Given the description of an element on the screen output the (x, y) to click on. 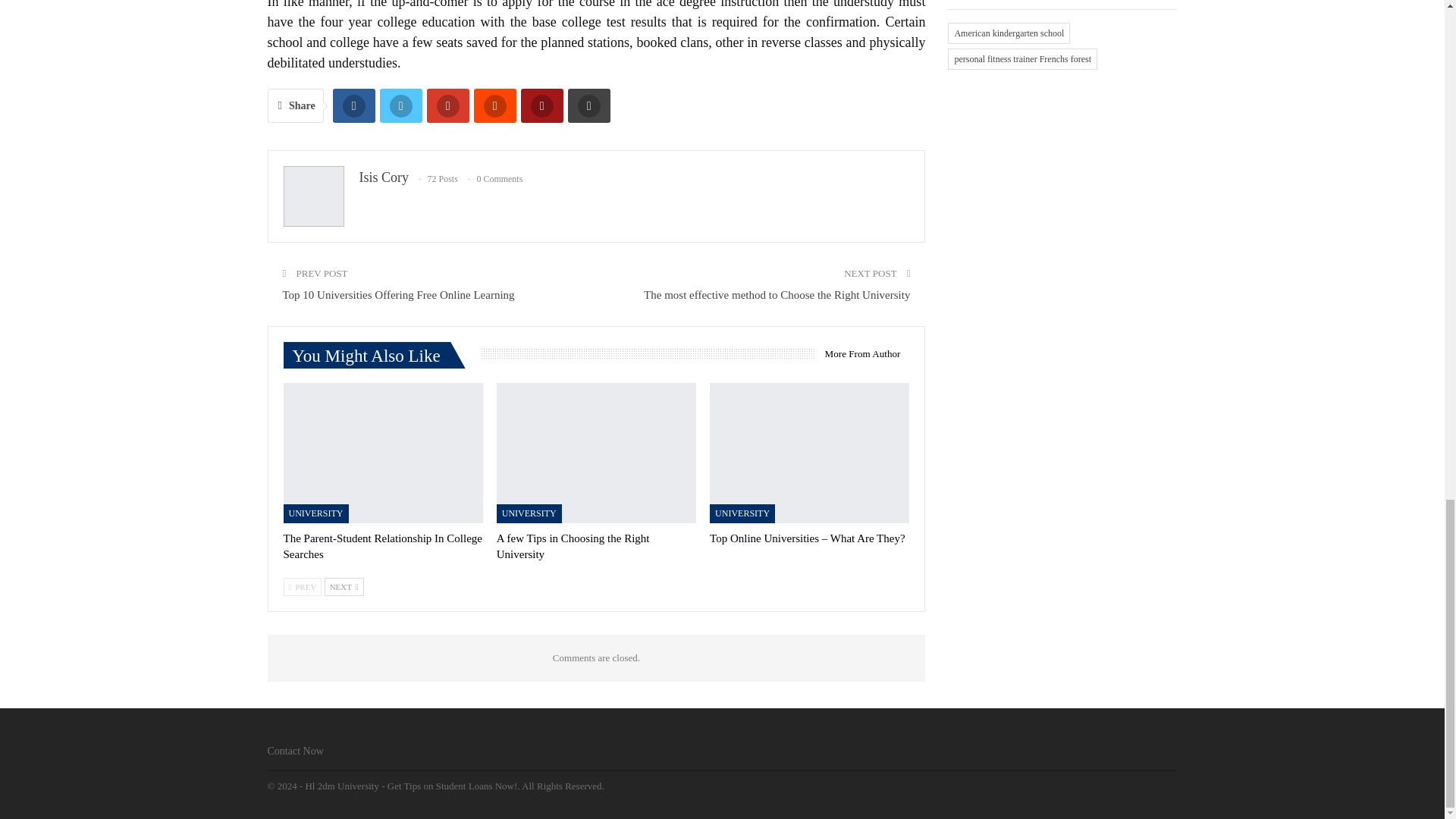
The Parent-Student Relationship In College Searches (383, 452)
A few Tips in Choosing the Right University (572, 546)
The Parent-Student Relationship In College Searches (382, 546)
Previous (302, 587)
A few Tips in Choosing the Right University (595, 452)
Next (344, 587)
